Given the description of an element on the screen output the (x, y) to click on. 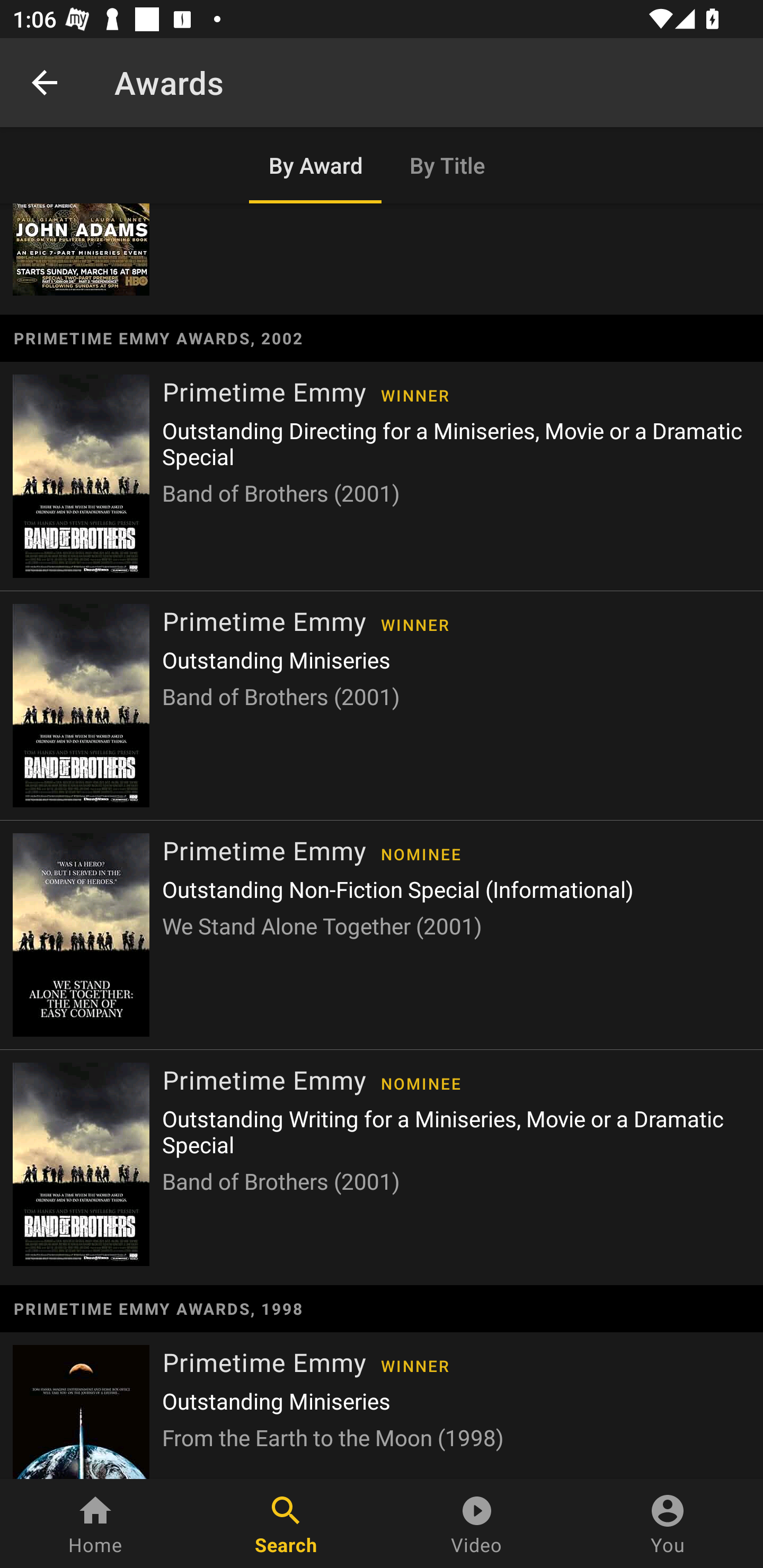
By Title (447, 165)
Home (95, 1523)
Video (476, 1523)
You (667, 1523)
